Given the description of an element on the screen output the (x, y) to click on. 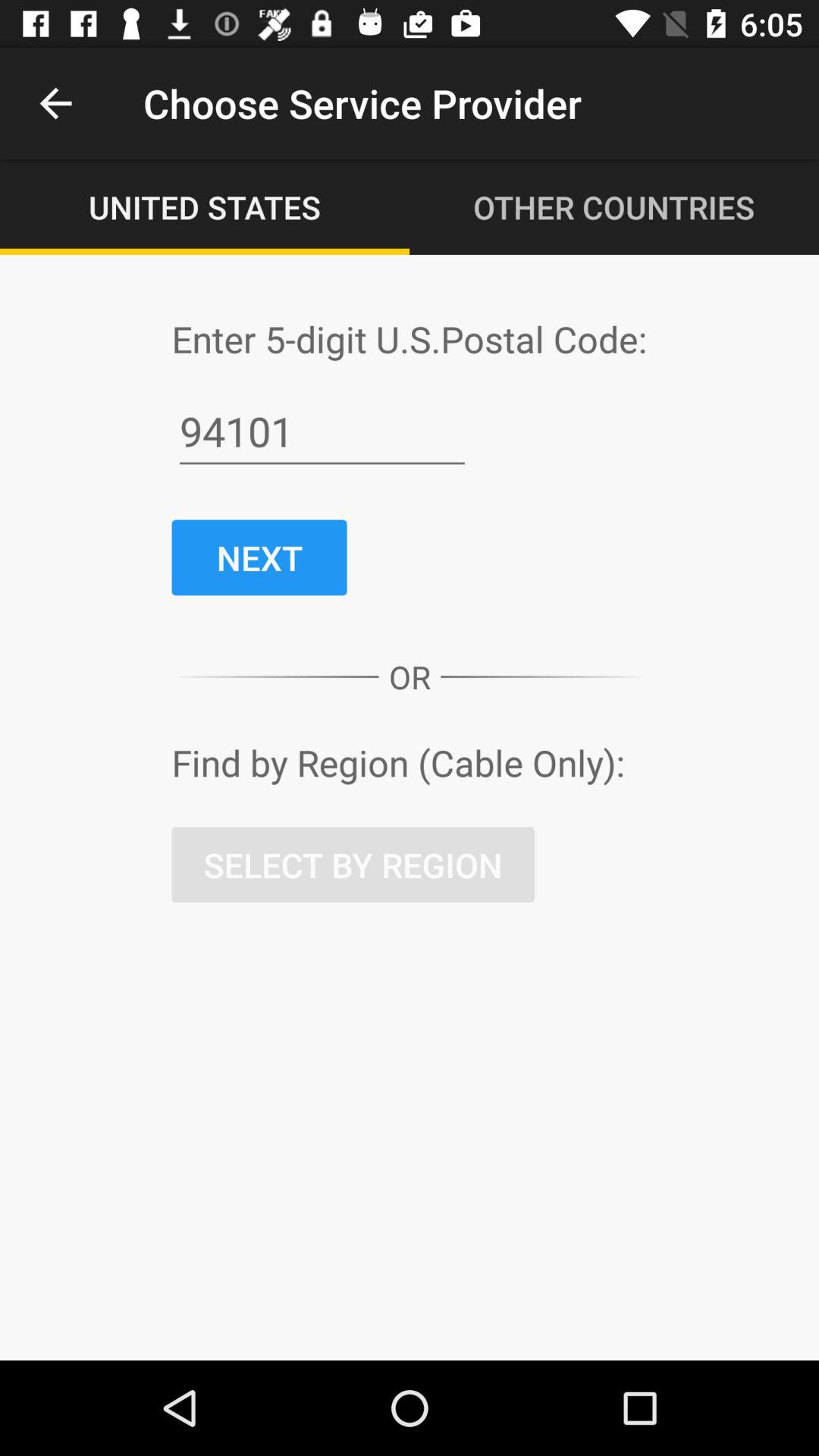
click on the button below rind by regioncable only (352, 864)
